Given the description of an element on the screen output the (x, y) to click on. 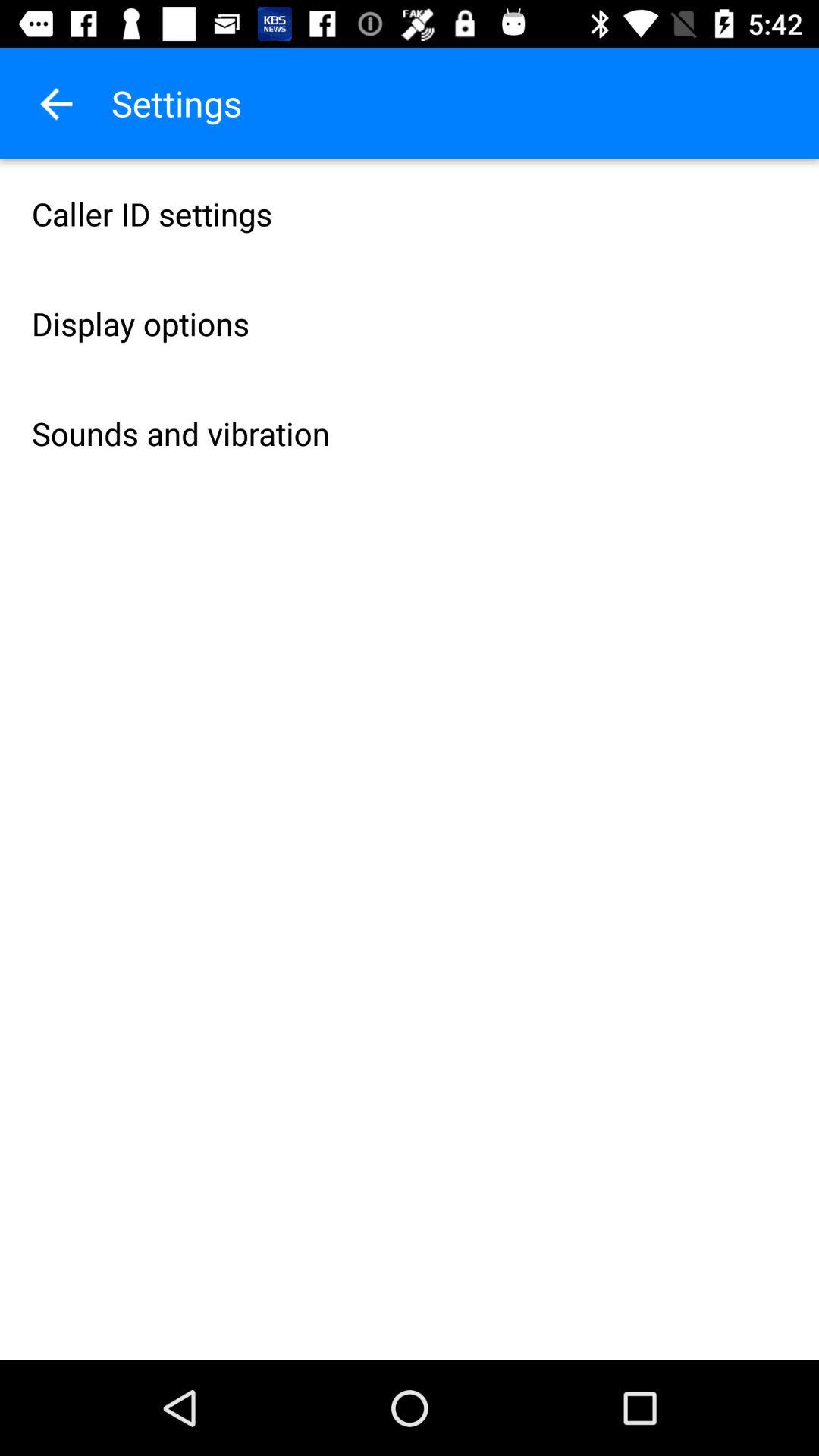
turn on item below caller id settings item (409, 323)
